Given the description of an element on the screen output the (x, y) to click on. 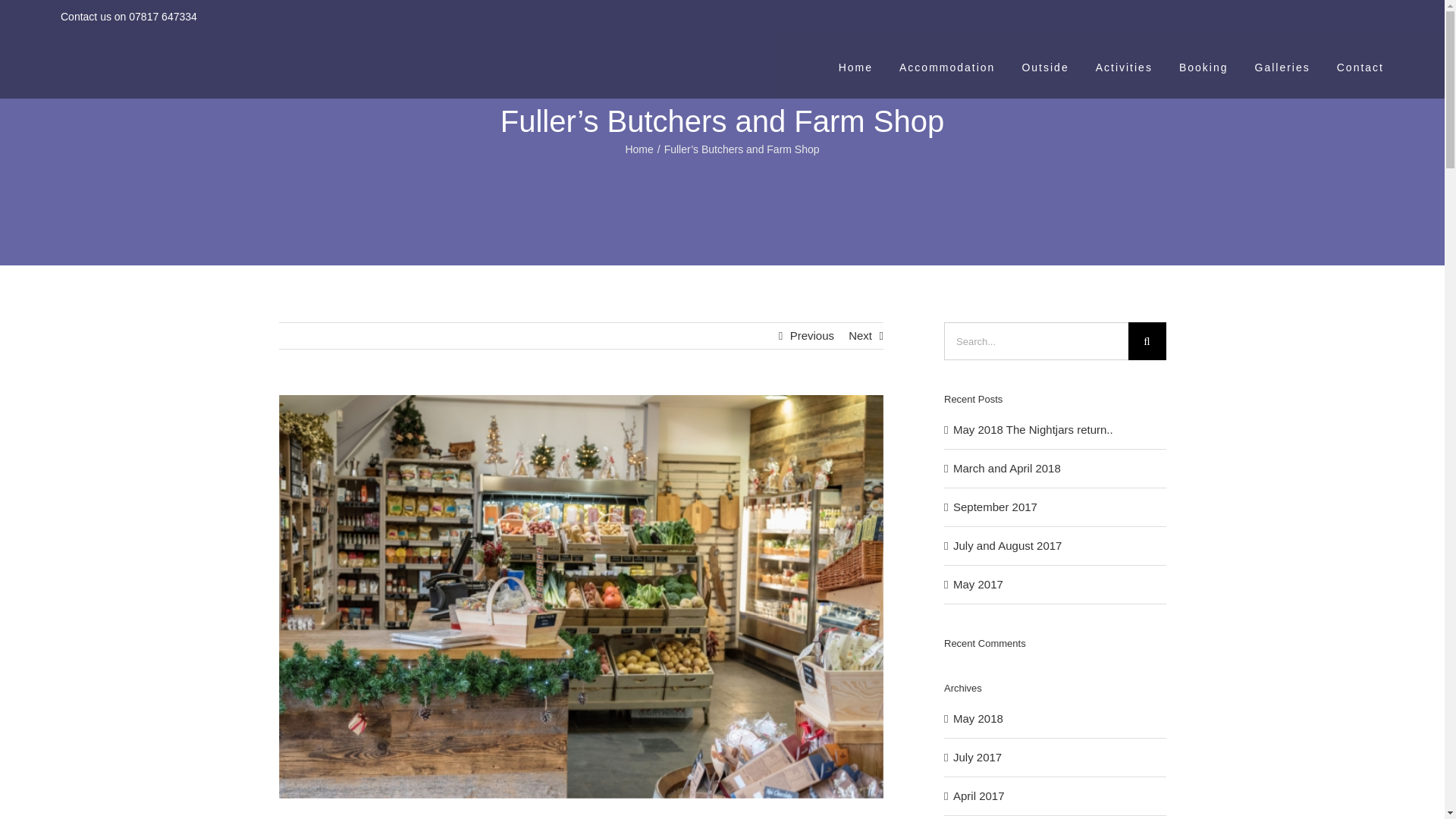
Activities (1124, 65)
Accommodation (946, 65)
Previous (812, 335)
Next (860, 335)
Home (638, 149)
